Given the description of an element on the screen output the (x, y) to click on. 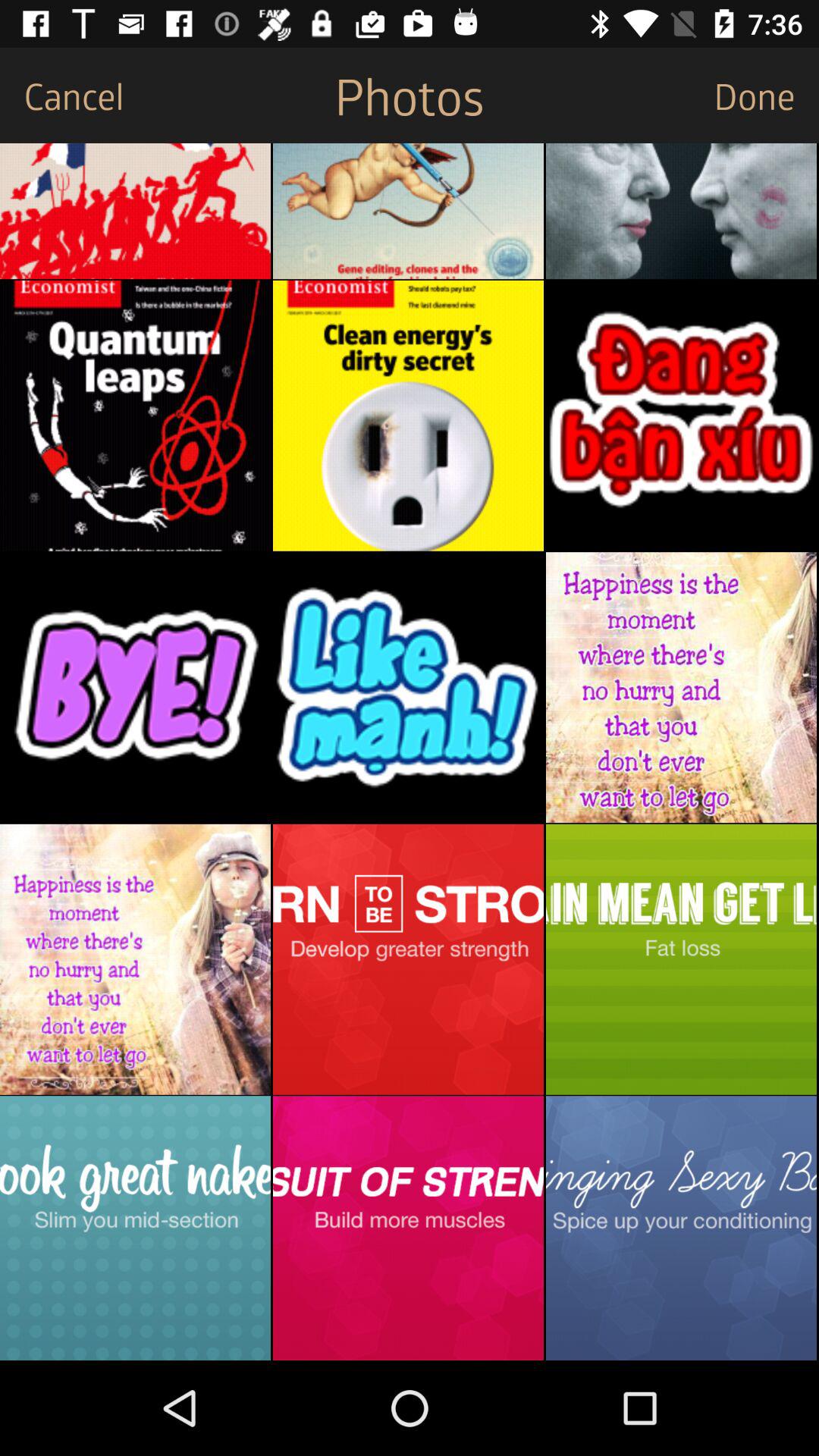
choose the item at the bottom right corner (681, 1227)
